Given the description of an element on the screen output the (x, y) to click on. 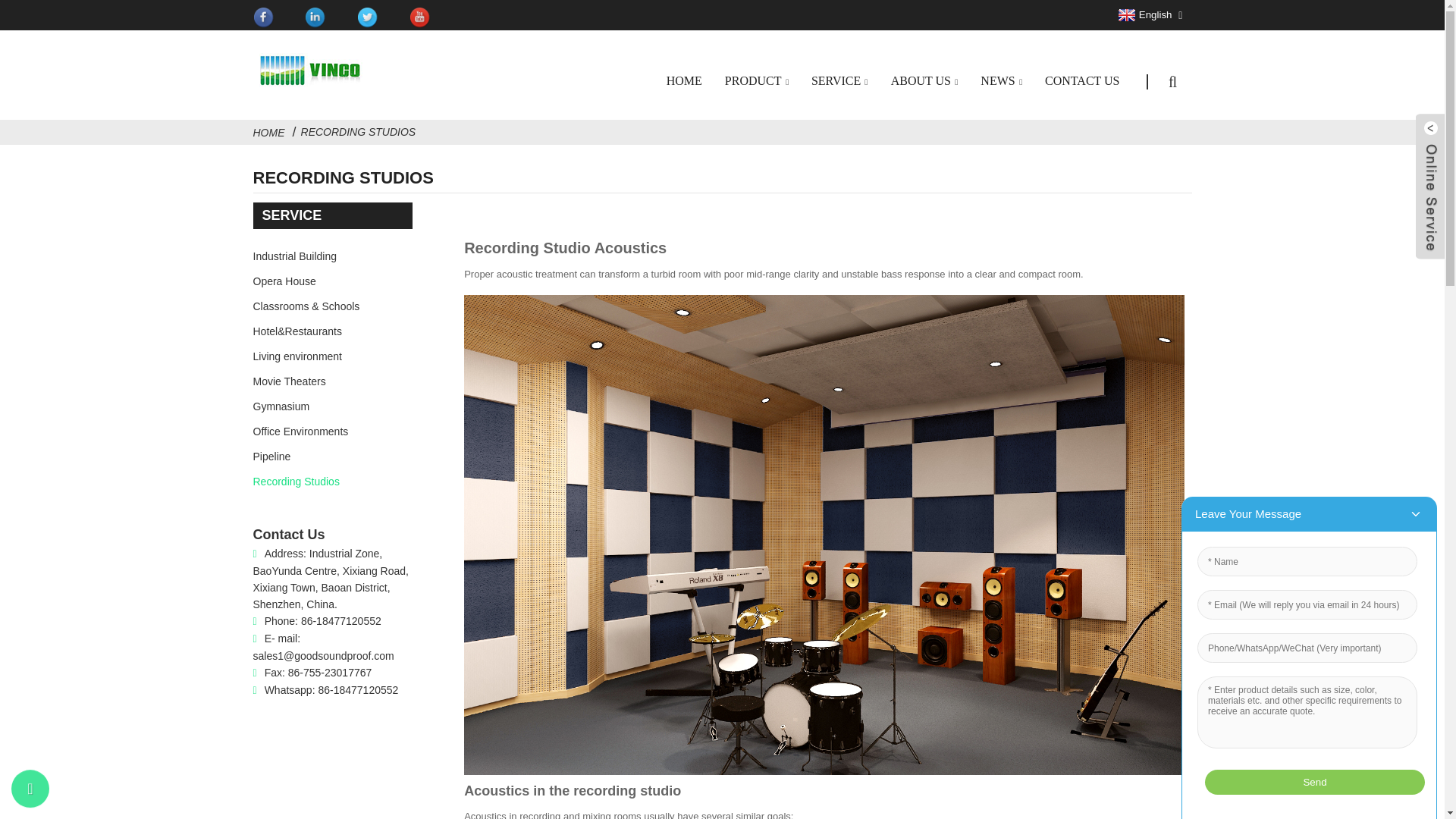
English (1143, 15)
